Given the description of an element on the screen output the (x, y) to click on. 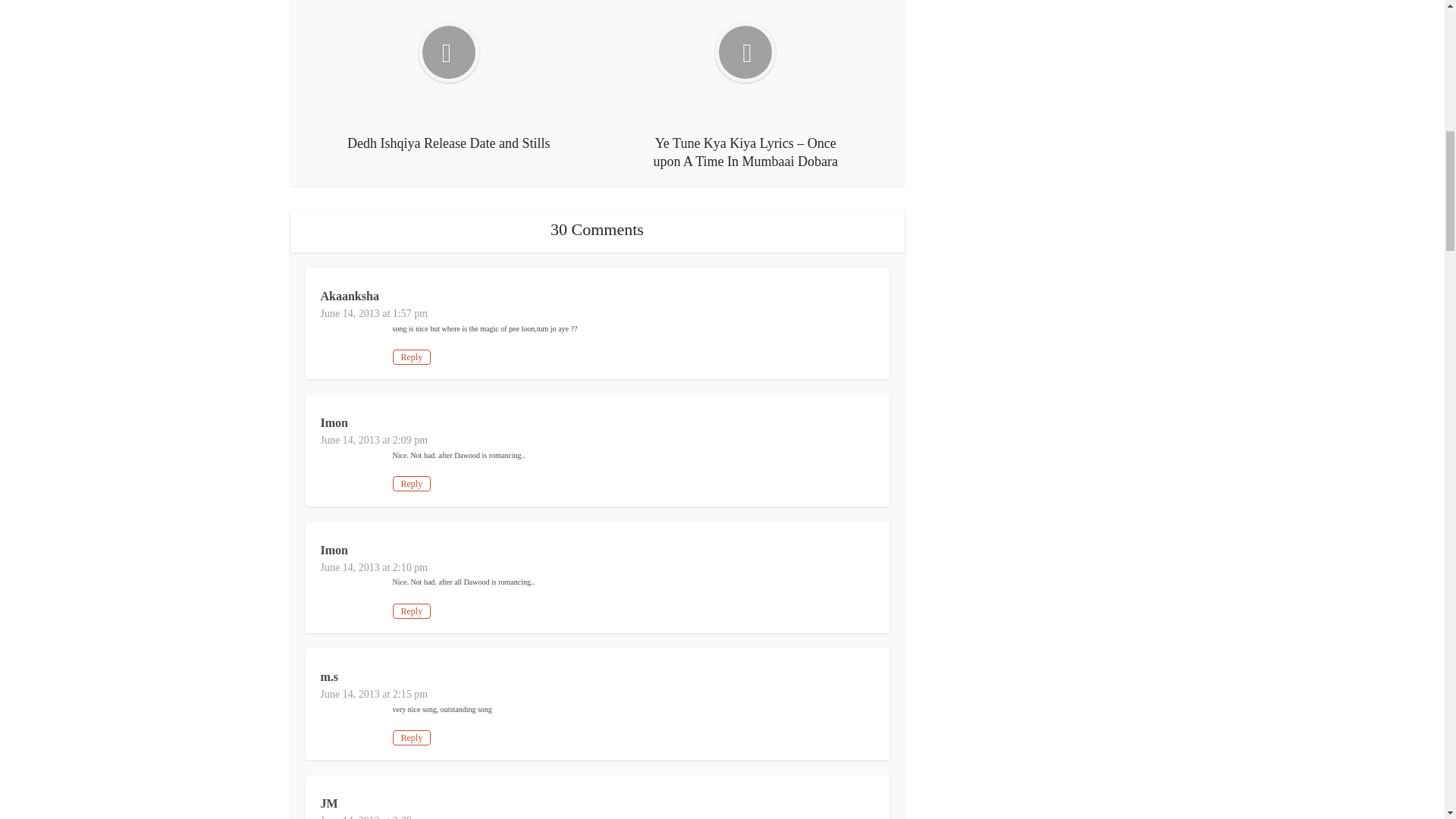
June 14, 2013 at 1:57 pm (374, 313)
June 14, 2013 at 2:15 pm (374, 694)
June 14, 2013 at 2:28 pm (374, 816)
June 14, 2013 at 2:09 pm (374, 439)
Reply (411, 611)
Reply (411, 483)
June 14, 2013 at 2:10 pm (374, 567)
Reply (411, 737)
Dedh Ishqiya Release Date and Stills (449, 75)
Reply (411, 356)
